Given the description of an element on the screen output the (x, y) to click on. 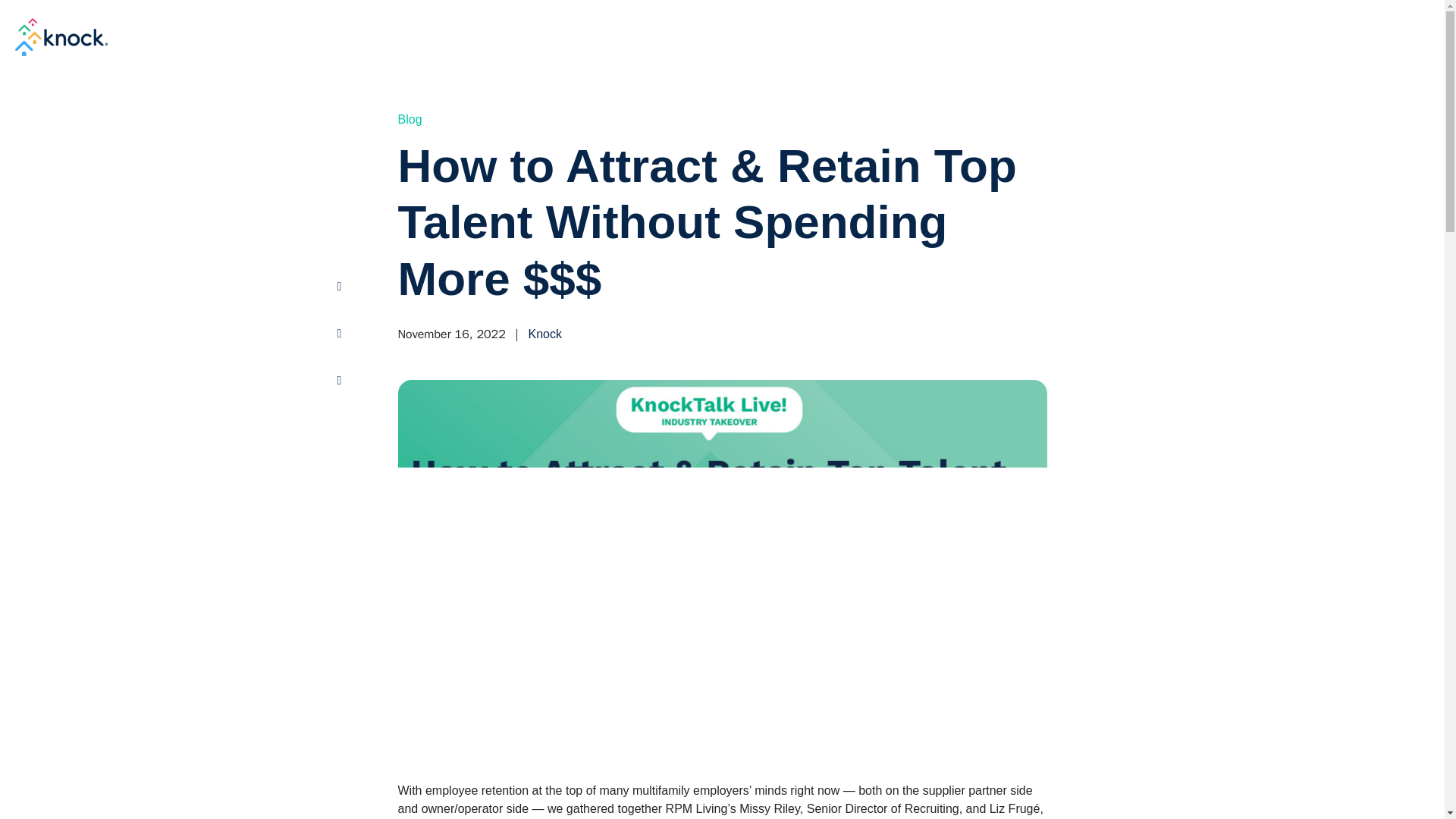
Blog (409, 119)
Knock (543, 333)
Knock (60, 36)
